Given the description of an element on the screen output the (x, y) to click on. 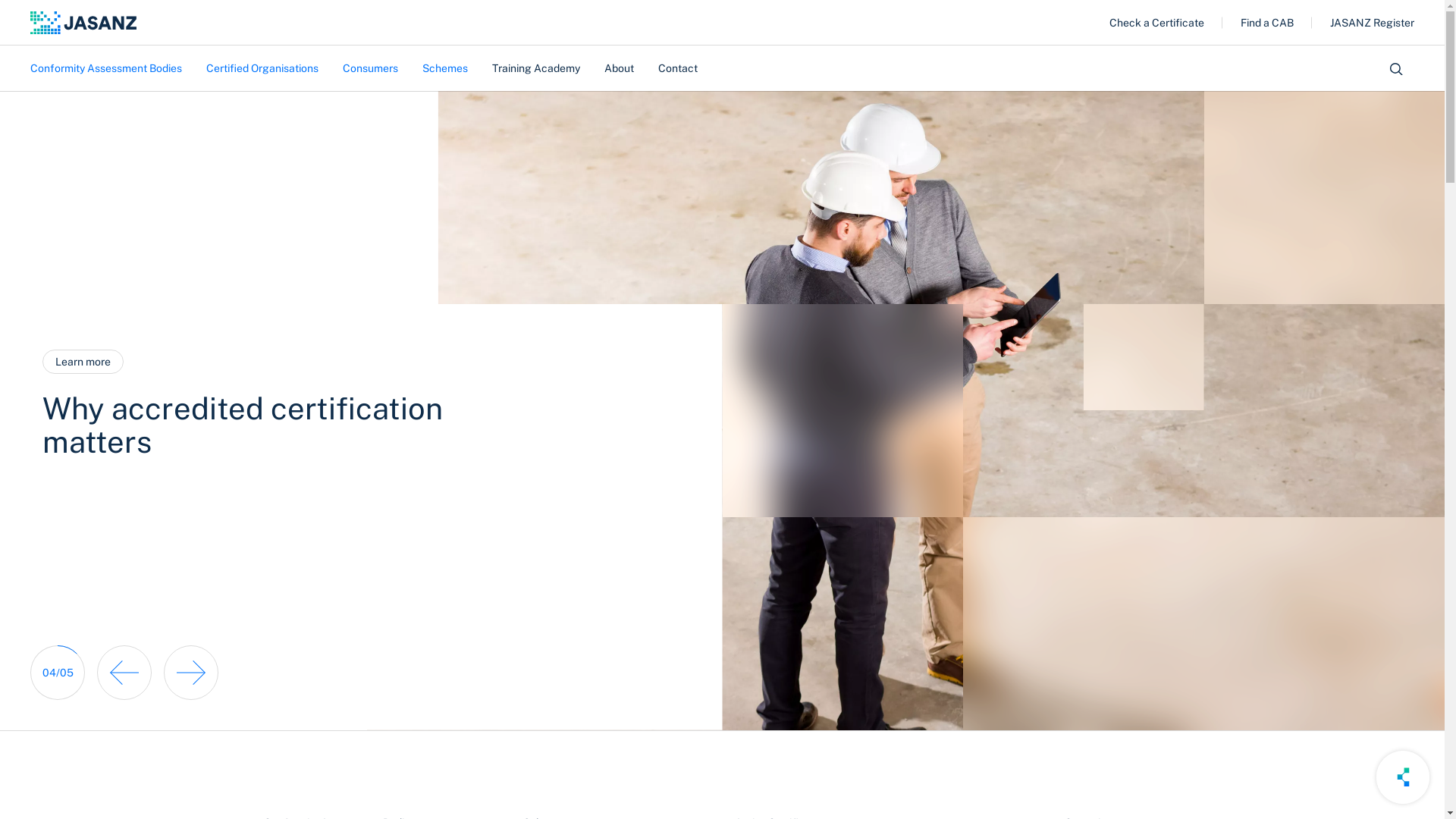
Certified Organisations Element type: text (262, 68)
JASANZ Register Element type: text (1372, 22)
Training Academy Element type: text (536, 68)
Consumers Element type: text (370, 68)
Find out more
Find out more Element type: text (88, 361)
JASANZ launches new Endorsed Scheme Register Element type: text (297, 415)
Find a CAB Element type: text (1266, 22)
Check a Certificate Element type: text (1156, 22)
Contact Element type: text (677, 68)
Conformity Assessment Bodies Element type: text (112, 68)
Schemes Element type: text (445, 68)
About Element type: text (619, 68)
